Given the description of an element on the screen output the (x, y) to click on. 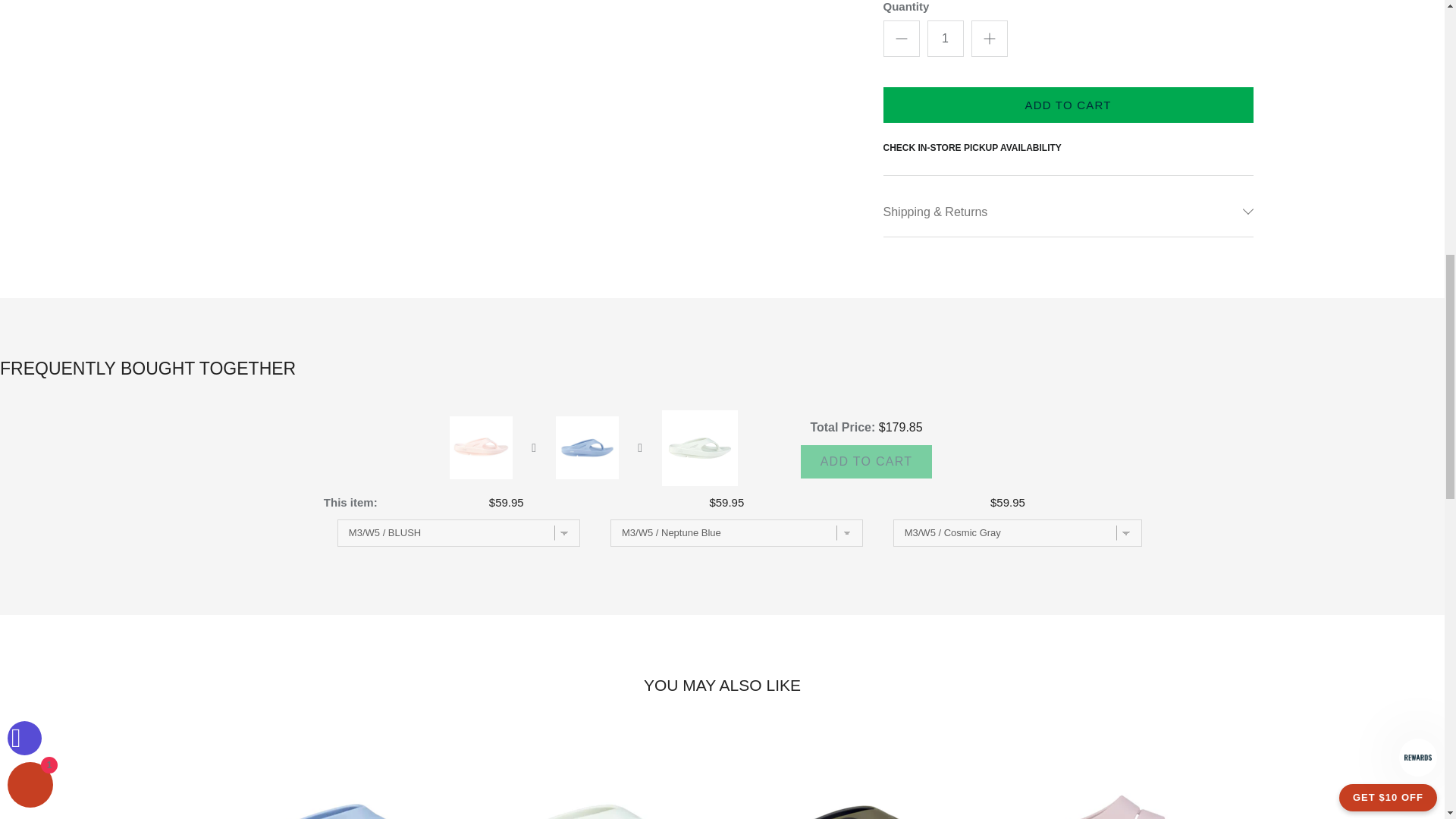
Plus (988, 38)
1 (944, 38)
Minus (900, 38)
